Given the description of an element on the screen output the (x, y) to click on. 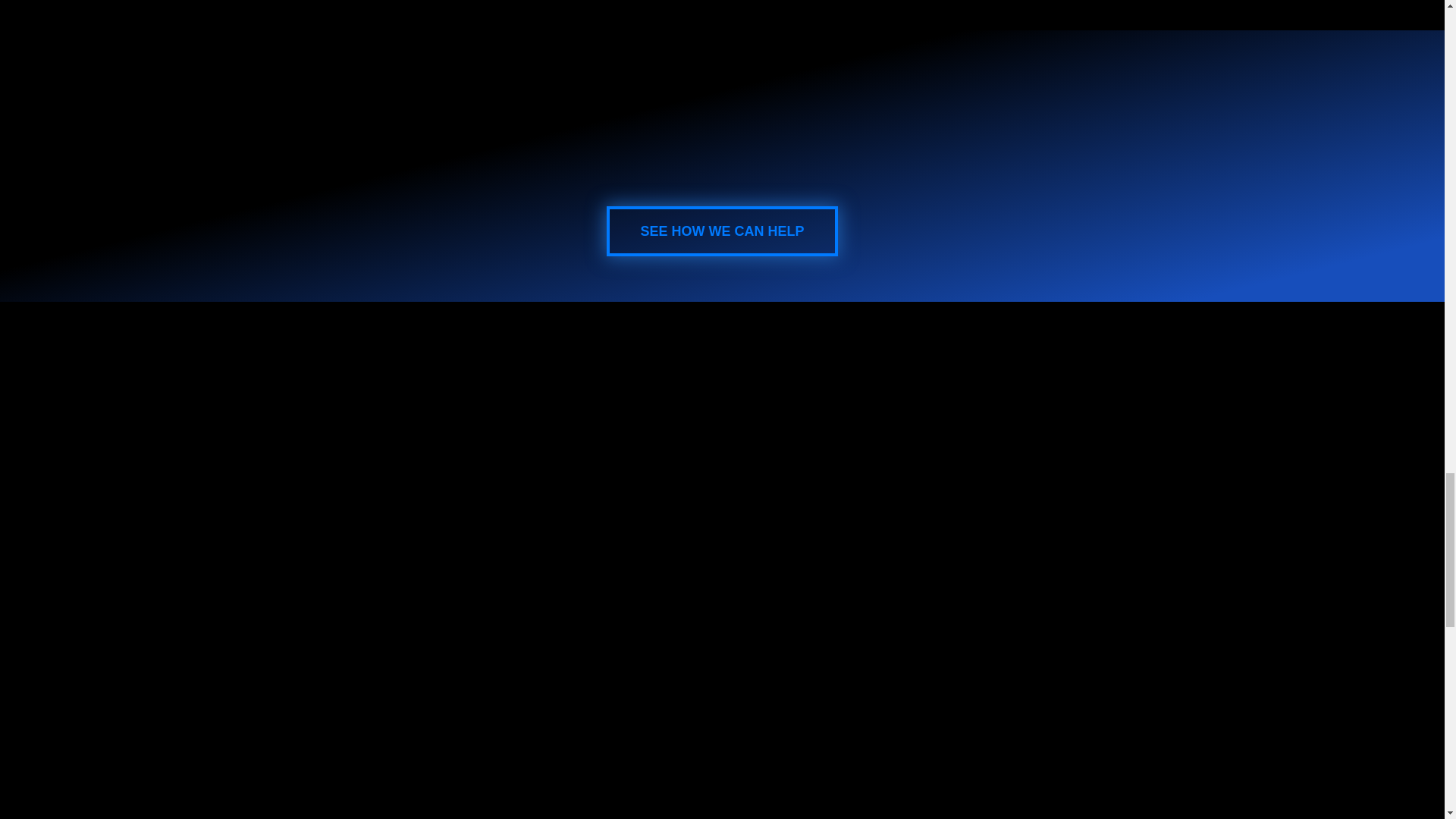
SEE HOW WE CAN HELP (722, 231)
